Given the description of an element on the screen output the (x, y) to click on. 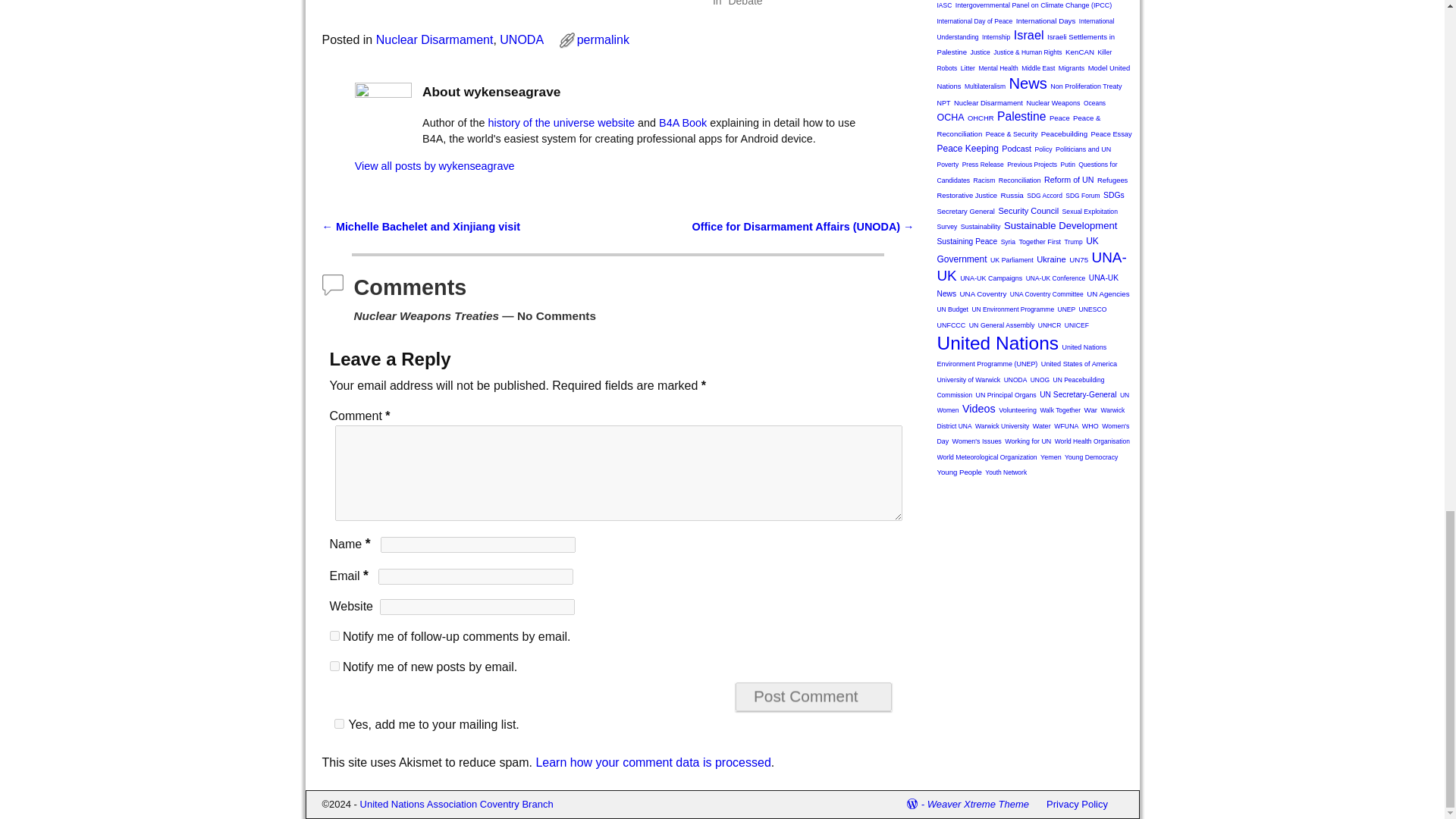
subscribe (334, 665)
Permalink to Nuclear Weapons Treaties (602, 39)
Post Comment (813, 696)
1 (338, 723)
subscribe (334, 635)
